Given the description of an element on the screen output the (x, y) to click on. 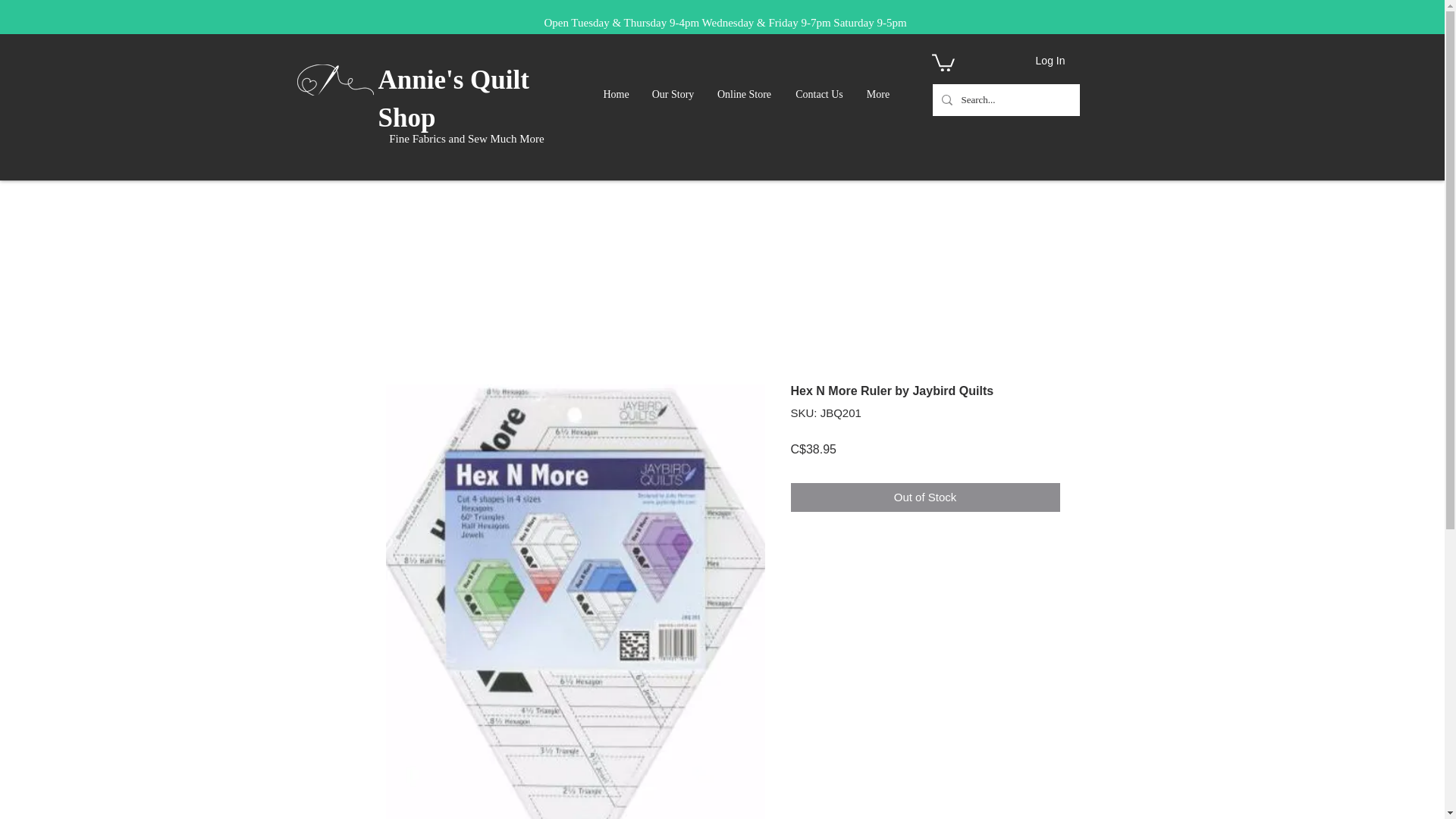
Annie's Quilt Shop (452, 98)
Contact Us (819, 94)
Our Story (672, 94)
Home (615, 94)
Online Store (743, 94)
Fine Fabrics and Sew Much More (466, 138)
